Given the description of an element on the screen output the (x, y) to click on. 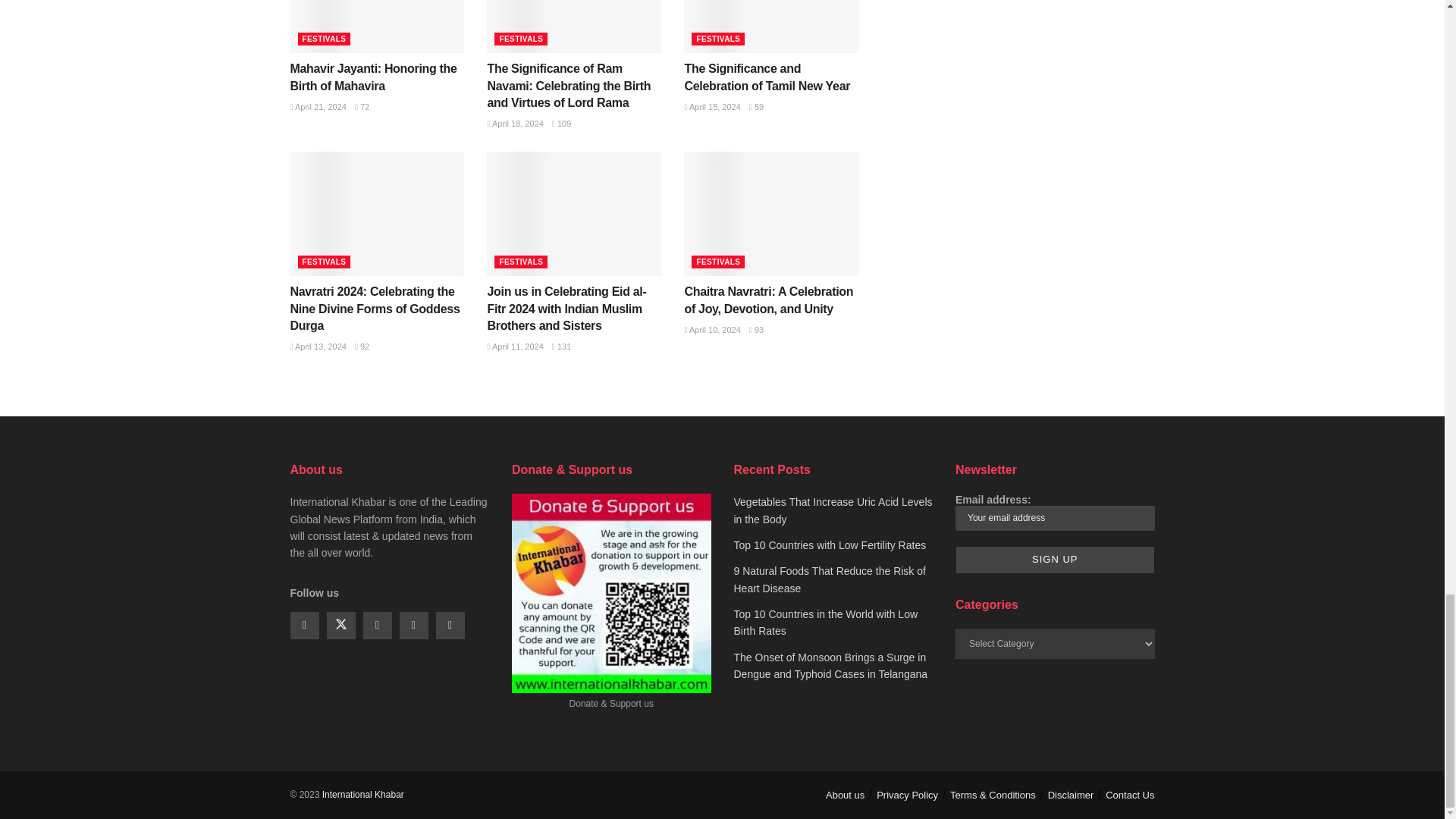
International Khabar (362, 793)
Sign up (1054, 560)
